Given the description of an element on the screen output the (x, y) to click on. 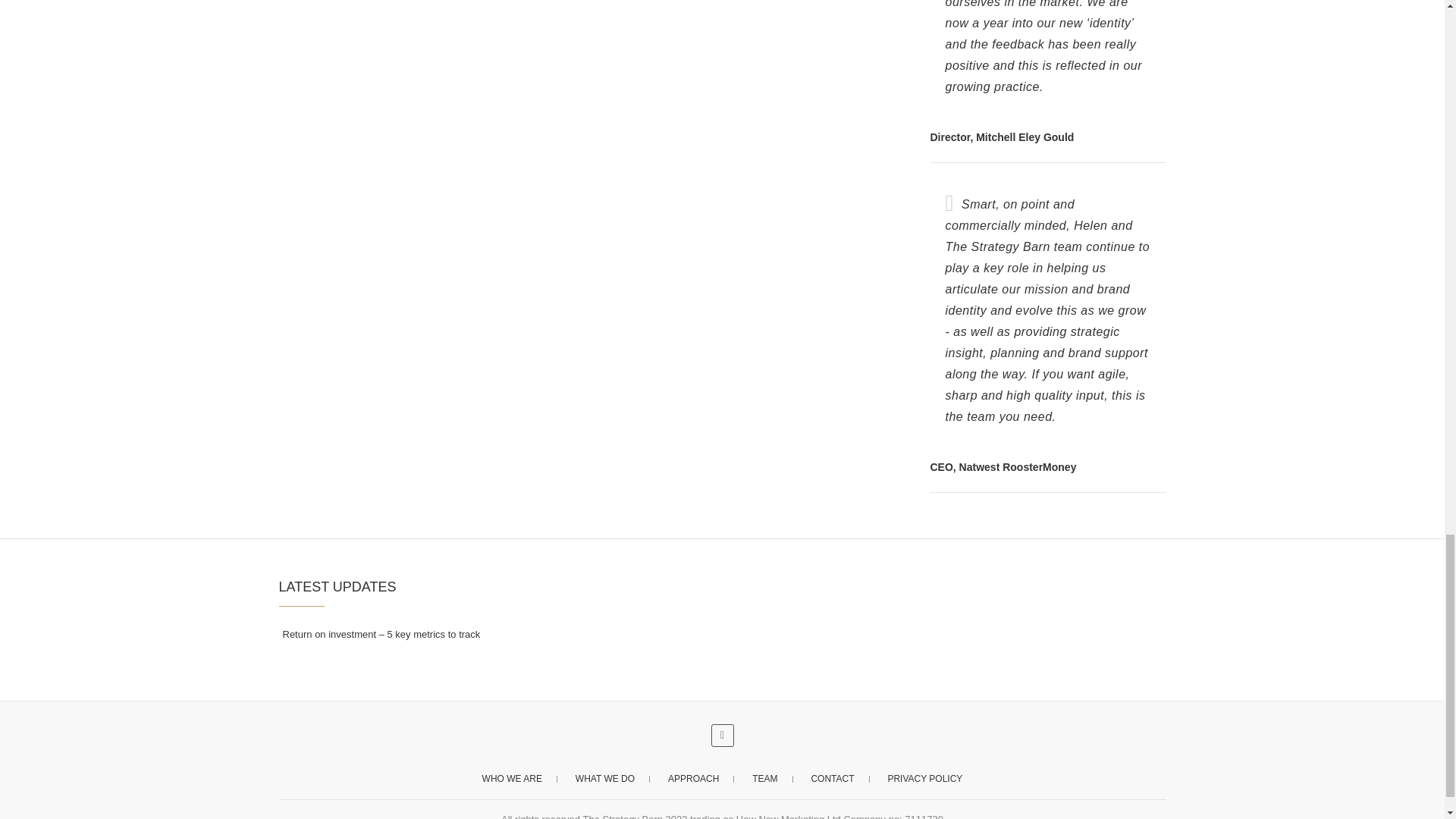
WHAT WE DO (604, 778)
WHO WE ARE (512, 778)
CONTACT (831, 778)
TEAM (764, 778)
APPROACH (692, 778)
PRIVACY POLICY (924, 778)
